Given the description of an element on the screen output the (x, y) to click on. 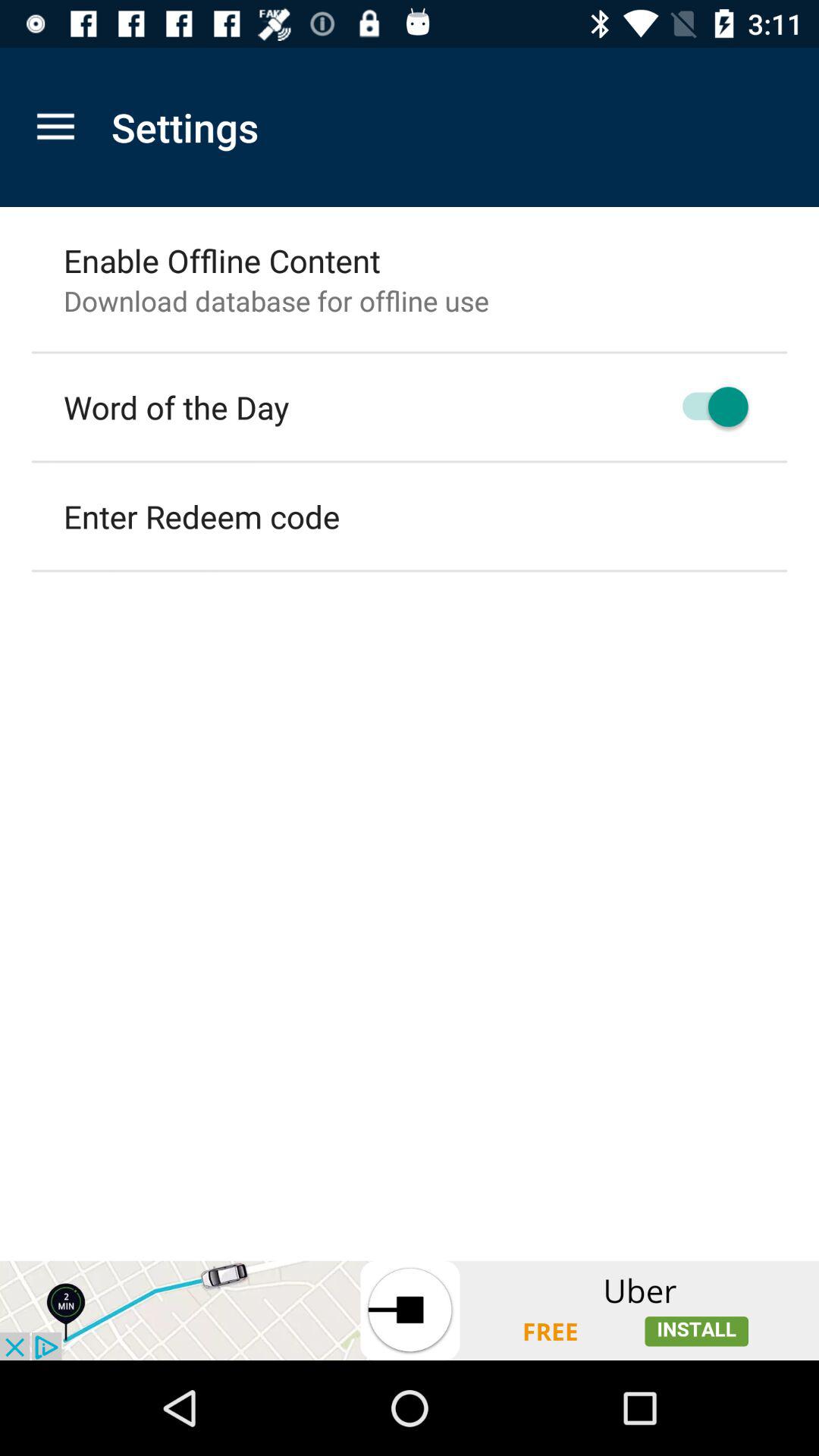
open the advertisement link (409, 1310)
